Given the description of an element on the screen output the (x, y) to click on. 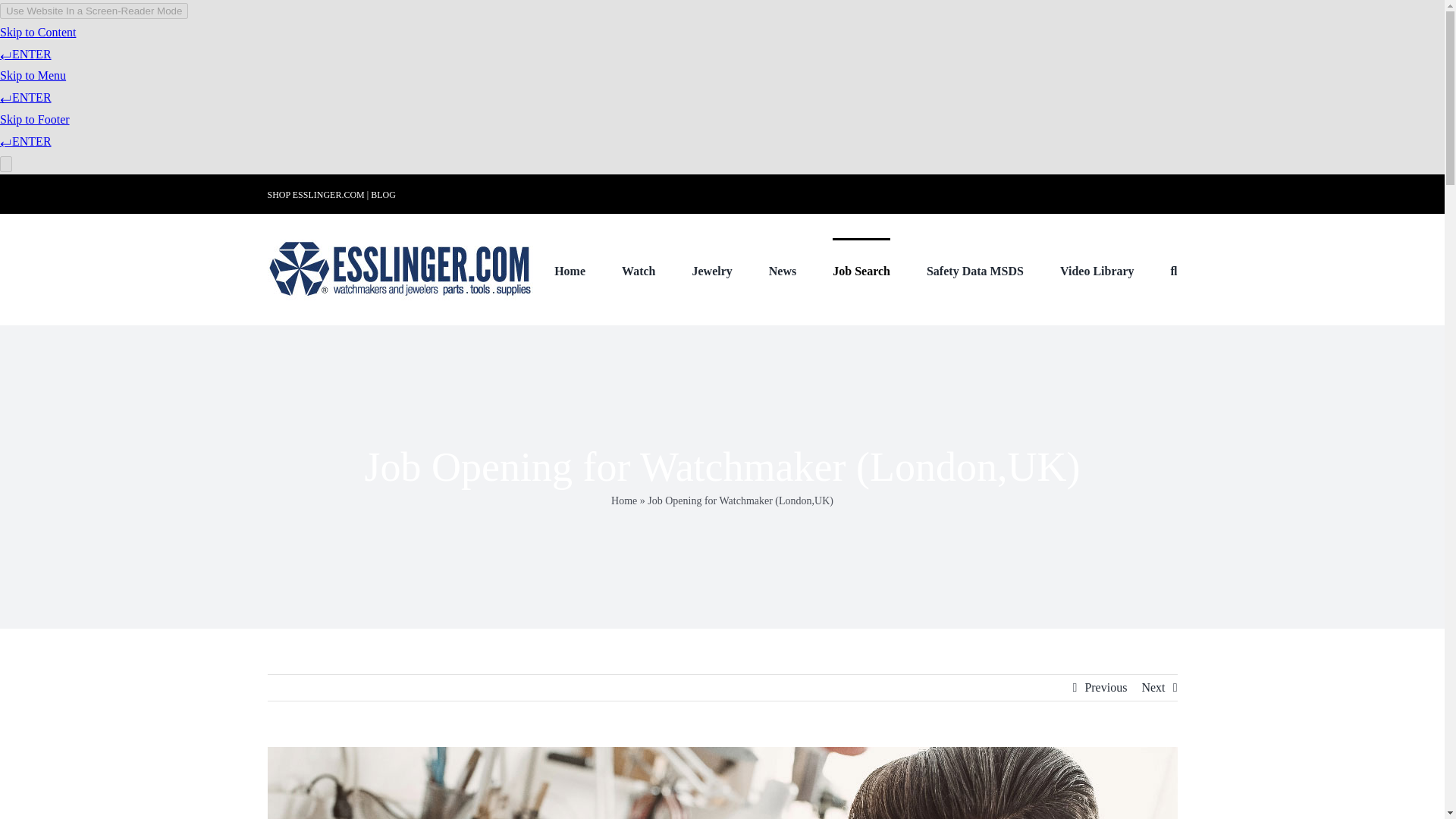
Job Search (860, 270)
Video Library (1096, 270)
Image Courtesy of Adobe Stock (721, 782)
SHOP ESSLINGER.COM (315, 194)
Safety Data MSDS (974, 270)
BLOG (383, 194)
